Given the description of an element on the screen output the (x, y) to click on. 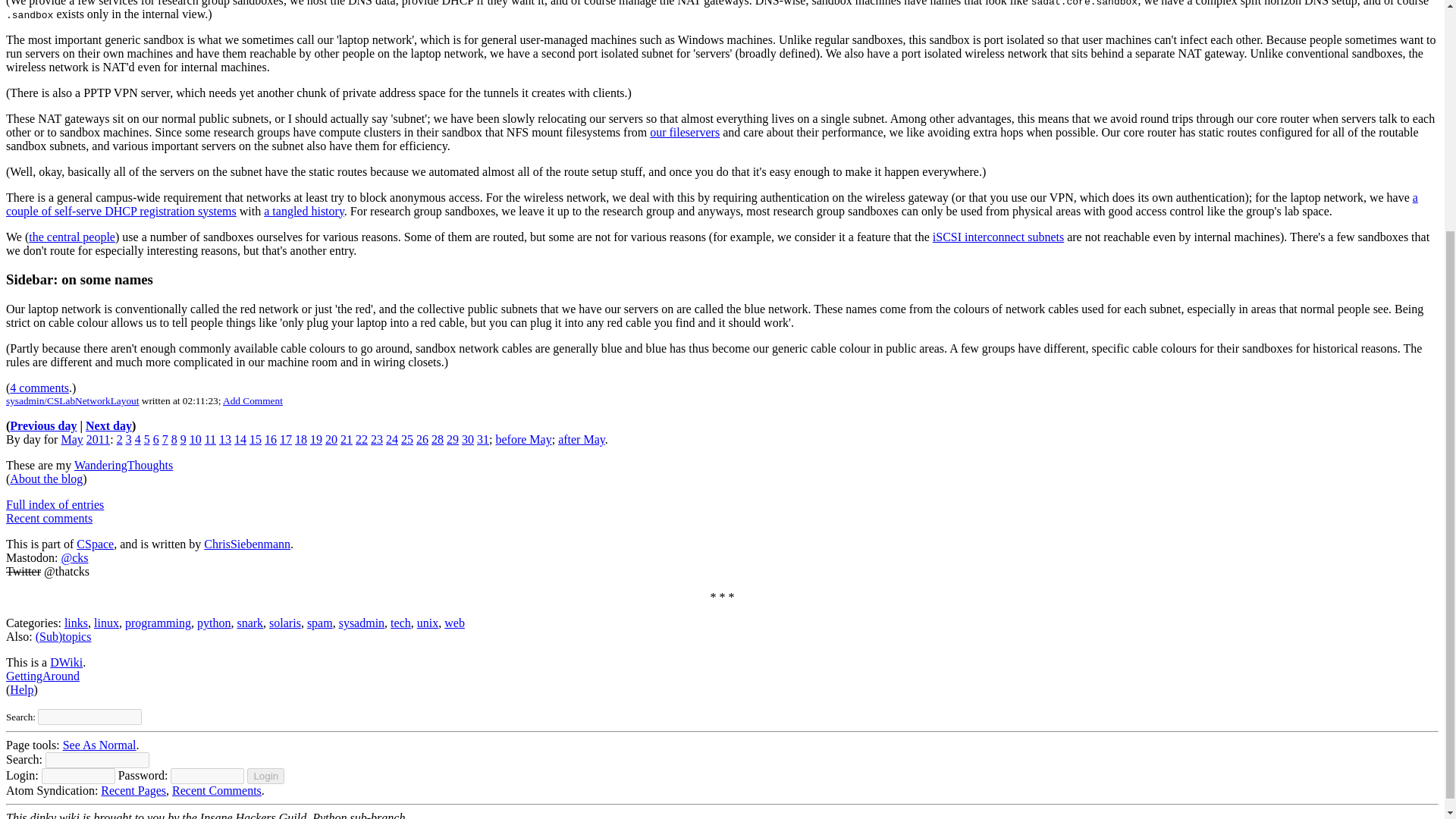
13 (225, 439)
4 comments (39, 387)
15 (255, 439)
16 (270, 439)
19 (315, 439)
Next day (108, 425)
a couple of self-serve DHCP registration systems (711, 203)
17 (285, 439)
iSCSI interconnect subnets (998, 236)
20 (330, 439)
2011 (97, 439)
10 (195, 439)
our fileservers (684, 132)
14 (240, 439)
the central people (72, 236)
